Given the description of an element on the screen output the (x, y) to click on. 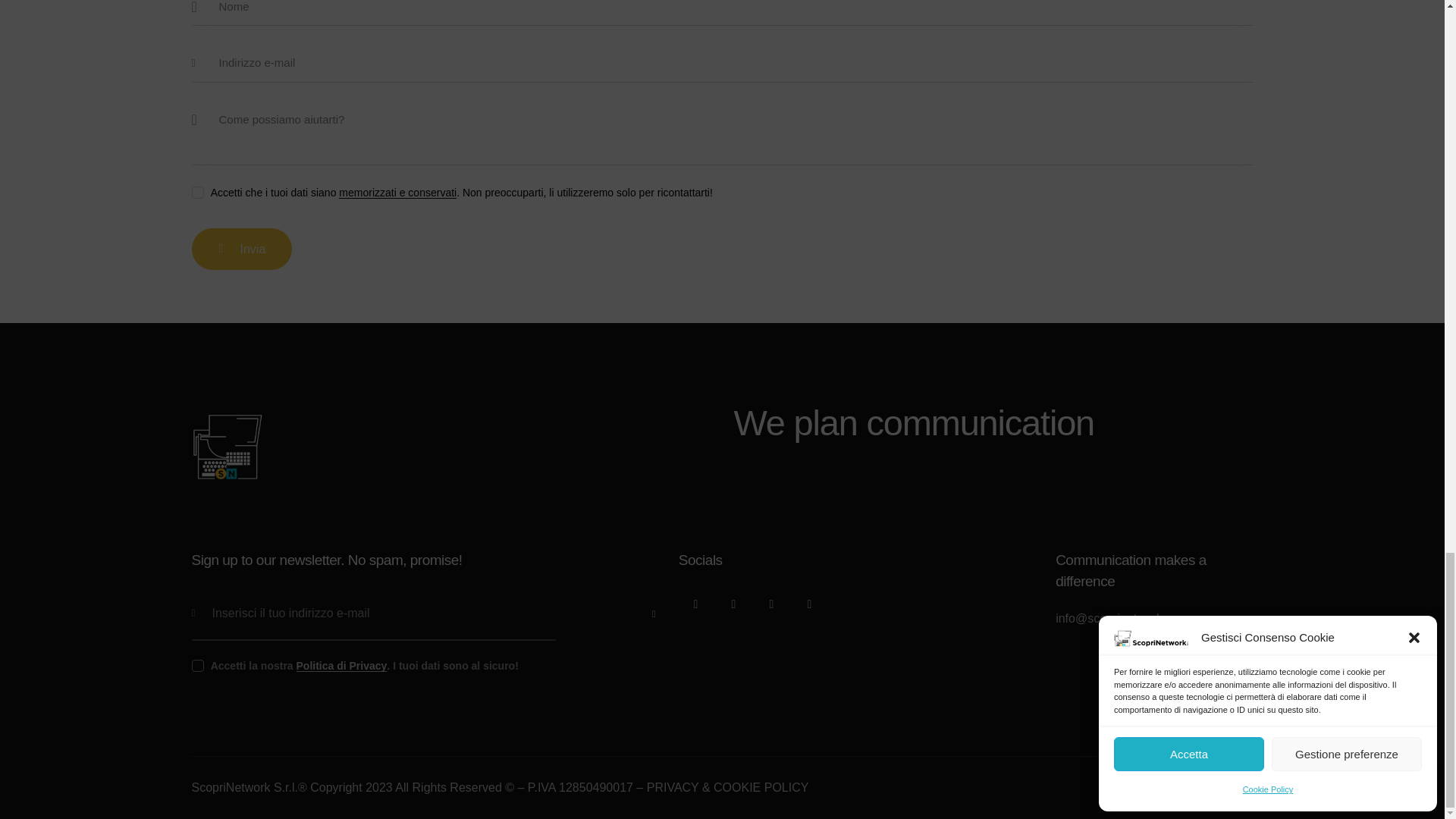
1 (195, 189)
1 (195, 645)
Invia (241, 249)
